Given the description of an element on the screen output the (x, y) to click on. 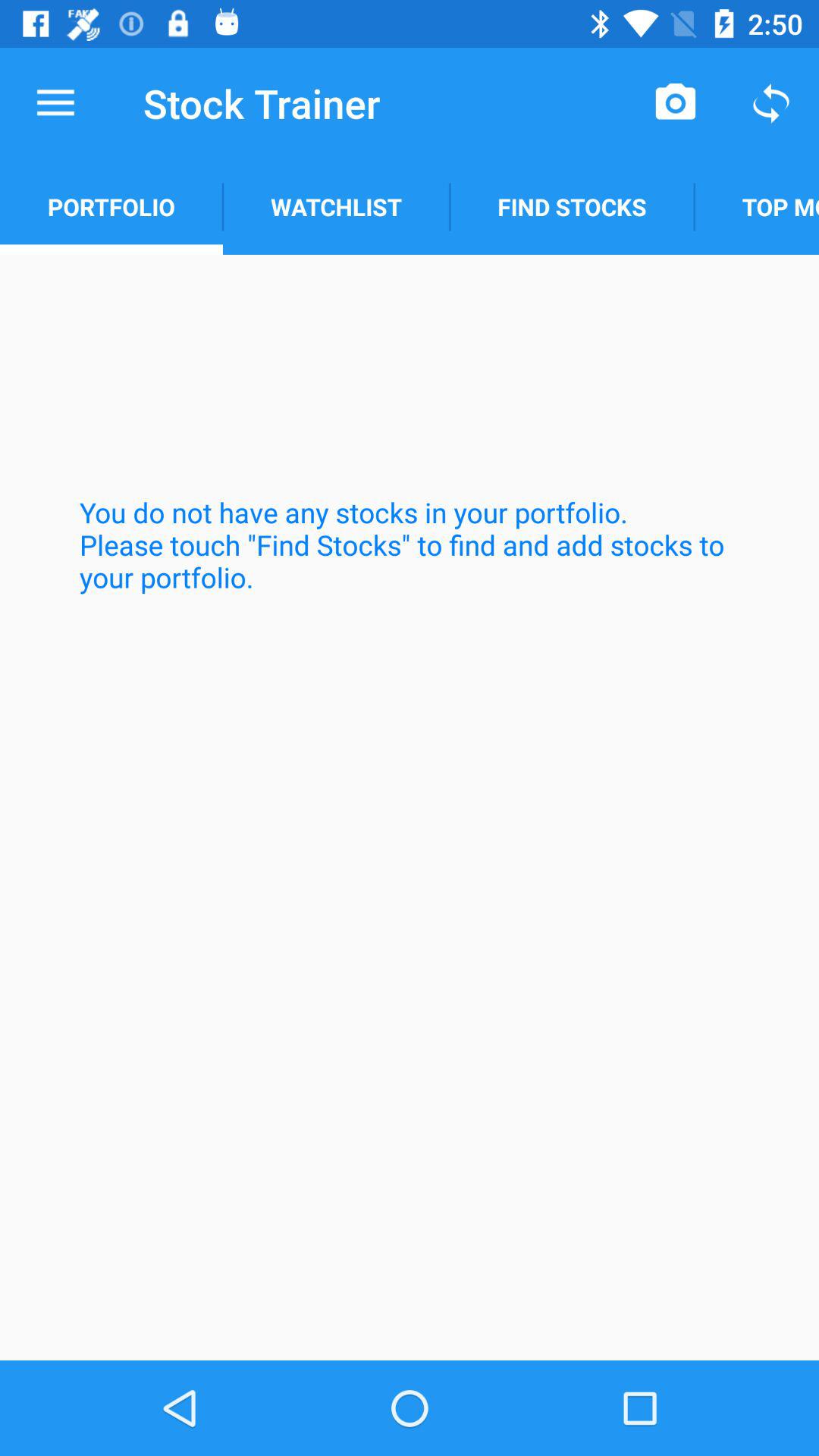
tap app to the right of find stocks icon (756, 206)
